Given the description of an element on the screen output the (x, y) to click on. 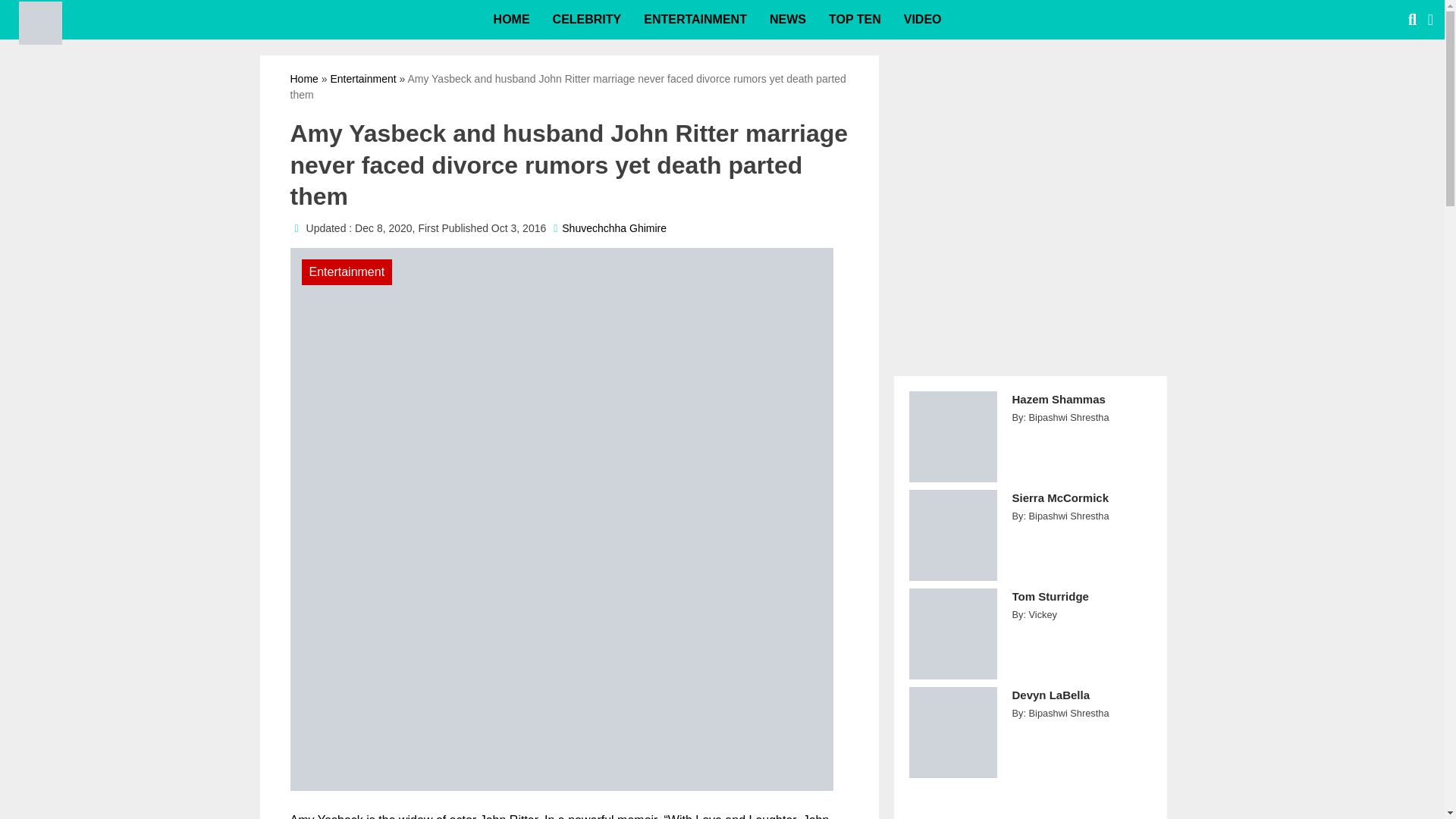
Sierra McCormick (1081, 505)
TOP TEN (854, 19)
CELEBRITY (587, 19)
Shuvechchha Ghimire (614, 227)
Entertainment (363, 78)
NEWS (787, 19)
Home (303, 78)
ENTERTAINMENT (694, 19)
HOME (511, 19)
Shuvechchha Ghimire (614, 227)
